Given the description of an element on the screen output the (x, y) to click on. 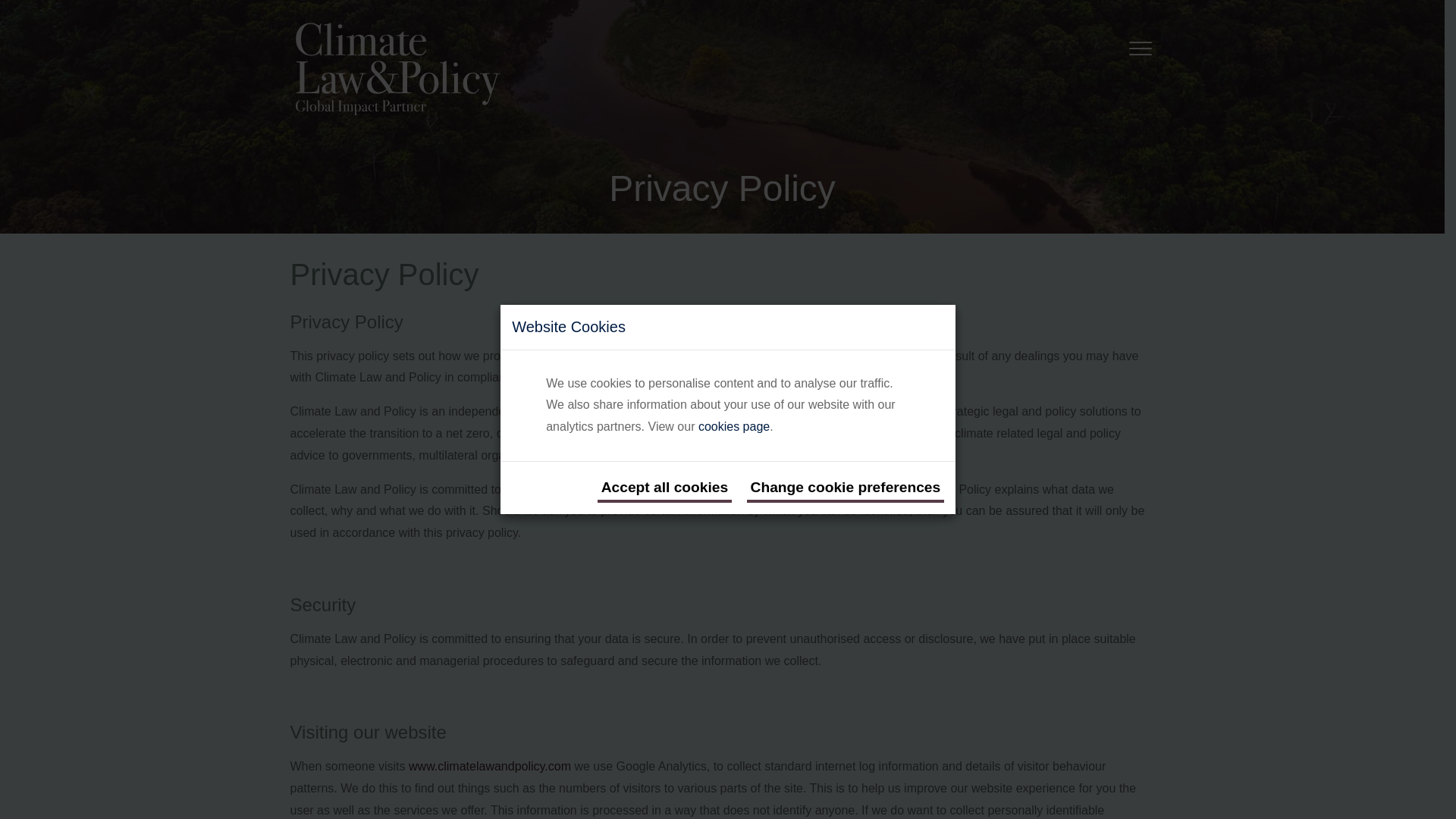
Change cookie preferences (845, 487)
cookies page (734, 426)
www.climatelawandpolicy.com (489, 766)
Accept all cookies (664, 487)
Skip to main content (21, 21)
